Given the description of an element on the screen output the (x, y) to click on. 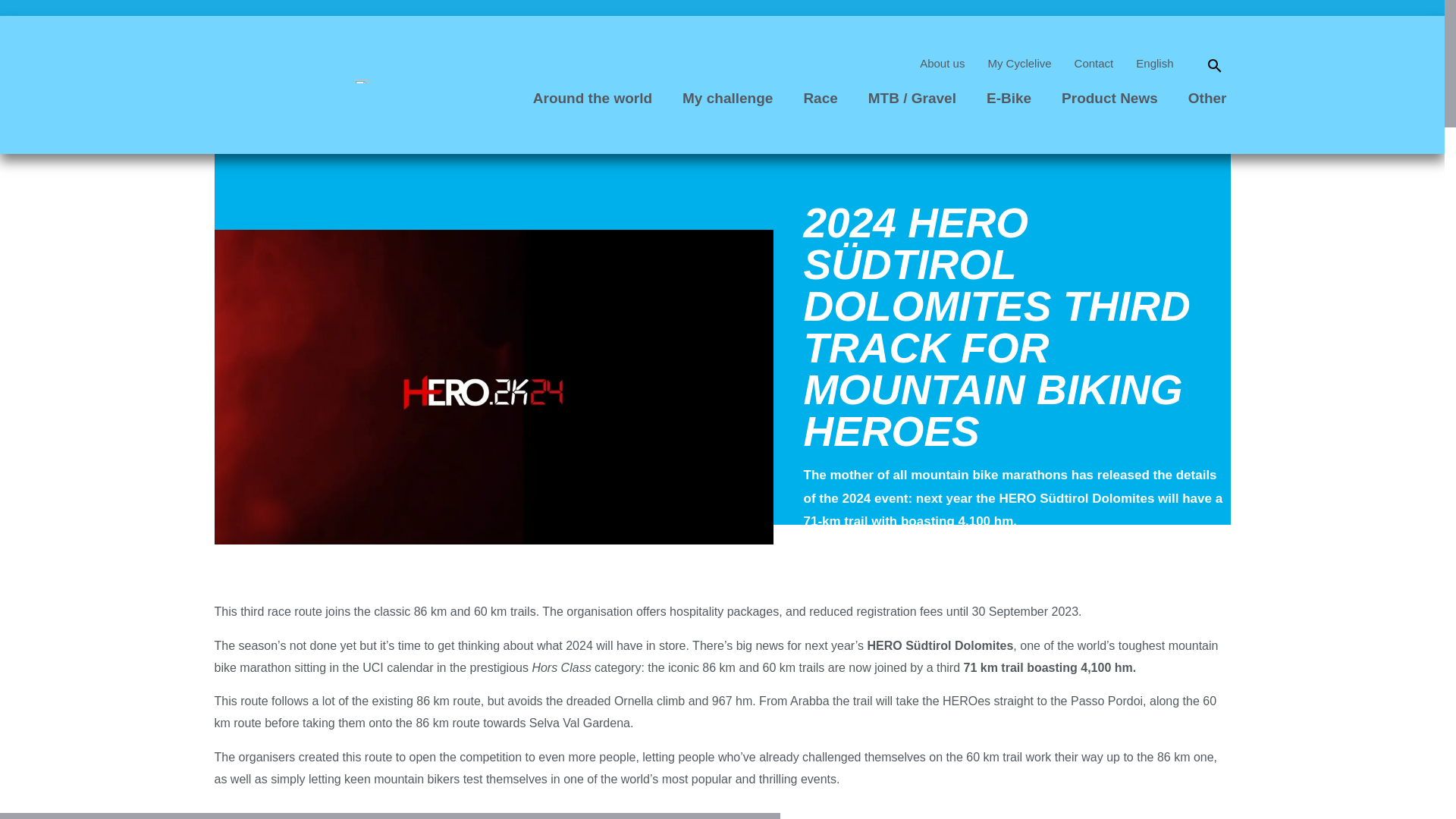
Contact (1093, 63)
Around the world (592, 98)
About us (941, 63)
My Cyclelive (1018, 63)
English (1154, 63)
